Given the description of an element on the screen output the (x, y) to click on. 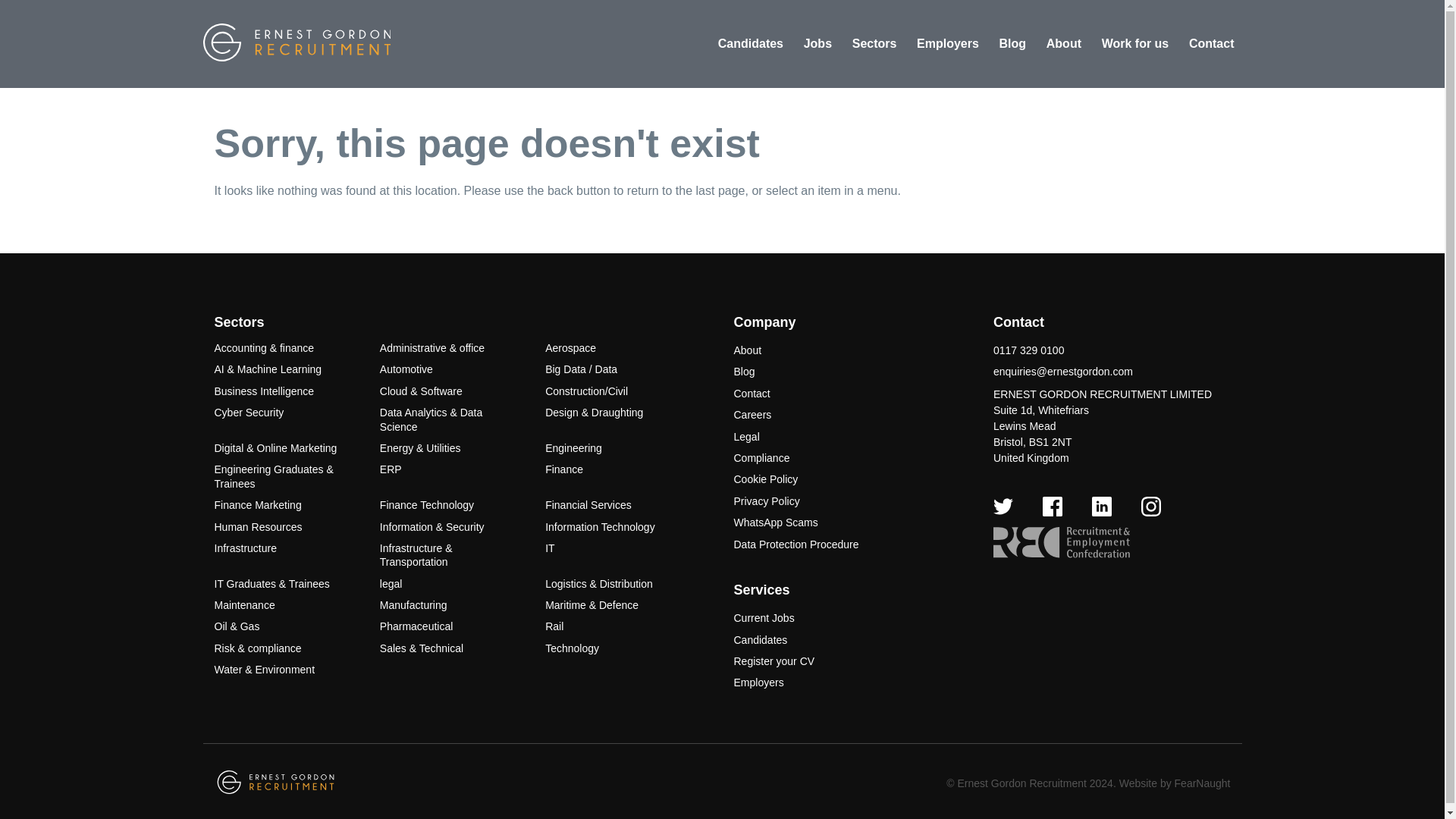
Work for us (1135, 43)
Automotive (406, 369)
Finance Technology (427, 504)
Cyber Security (248, 412)
Candidates (750, 43)
Engineering (573, 448)
Business Intelligence (264, 390)
Finance (563, 469)
Infrastructure (245, 548)
Employers (947, 43)
ERP (390, 469)
legal (391, 583)
Financial Services (587, 504)
Aerospace (569, 347)
Human Resources (257, 526)
